Given the description of an element on the screen output the (x, y) to click on. 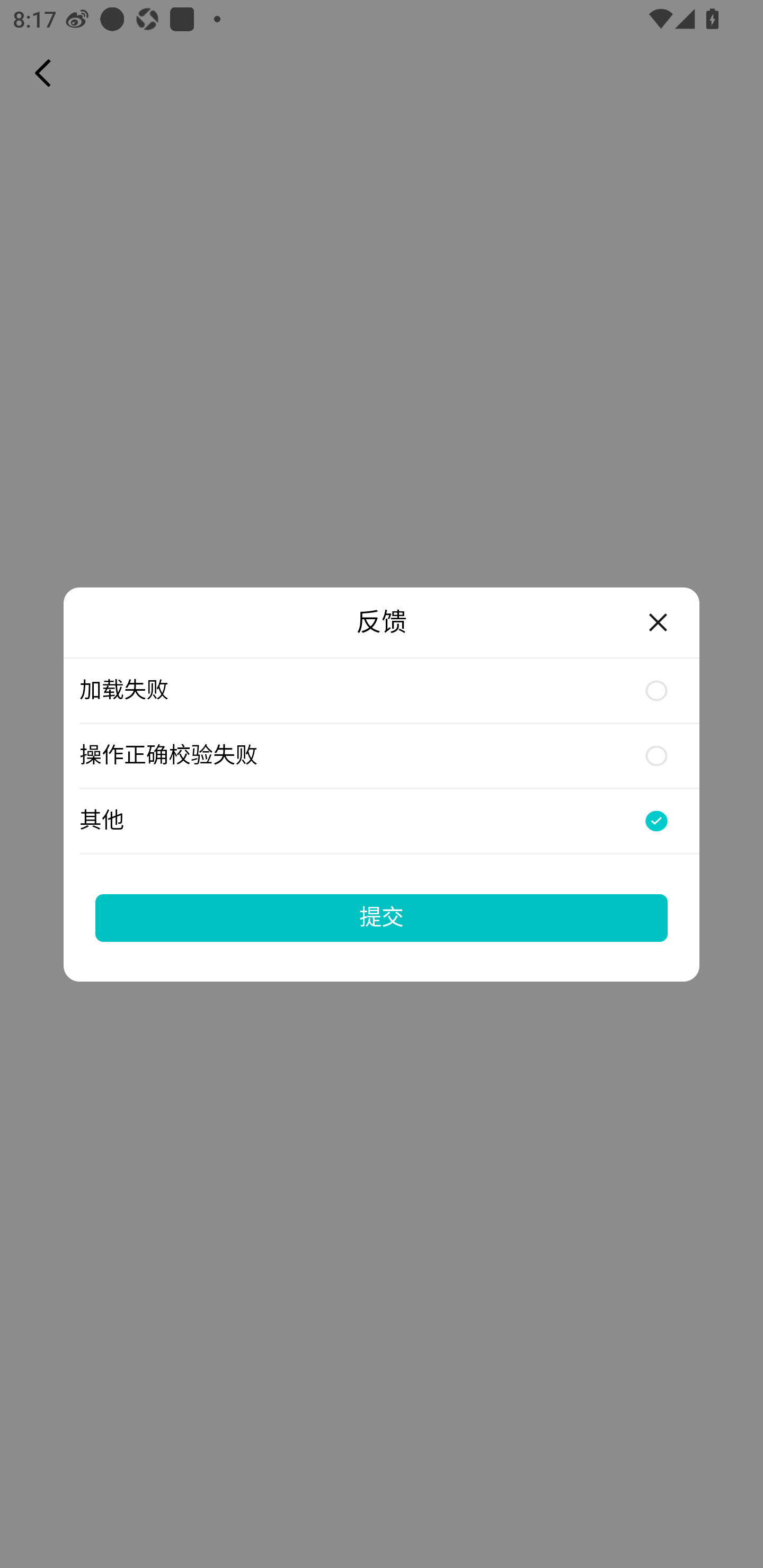
提交 (381, 917)
